Given the description of an element on the screen output the (x, y) to click on. 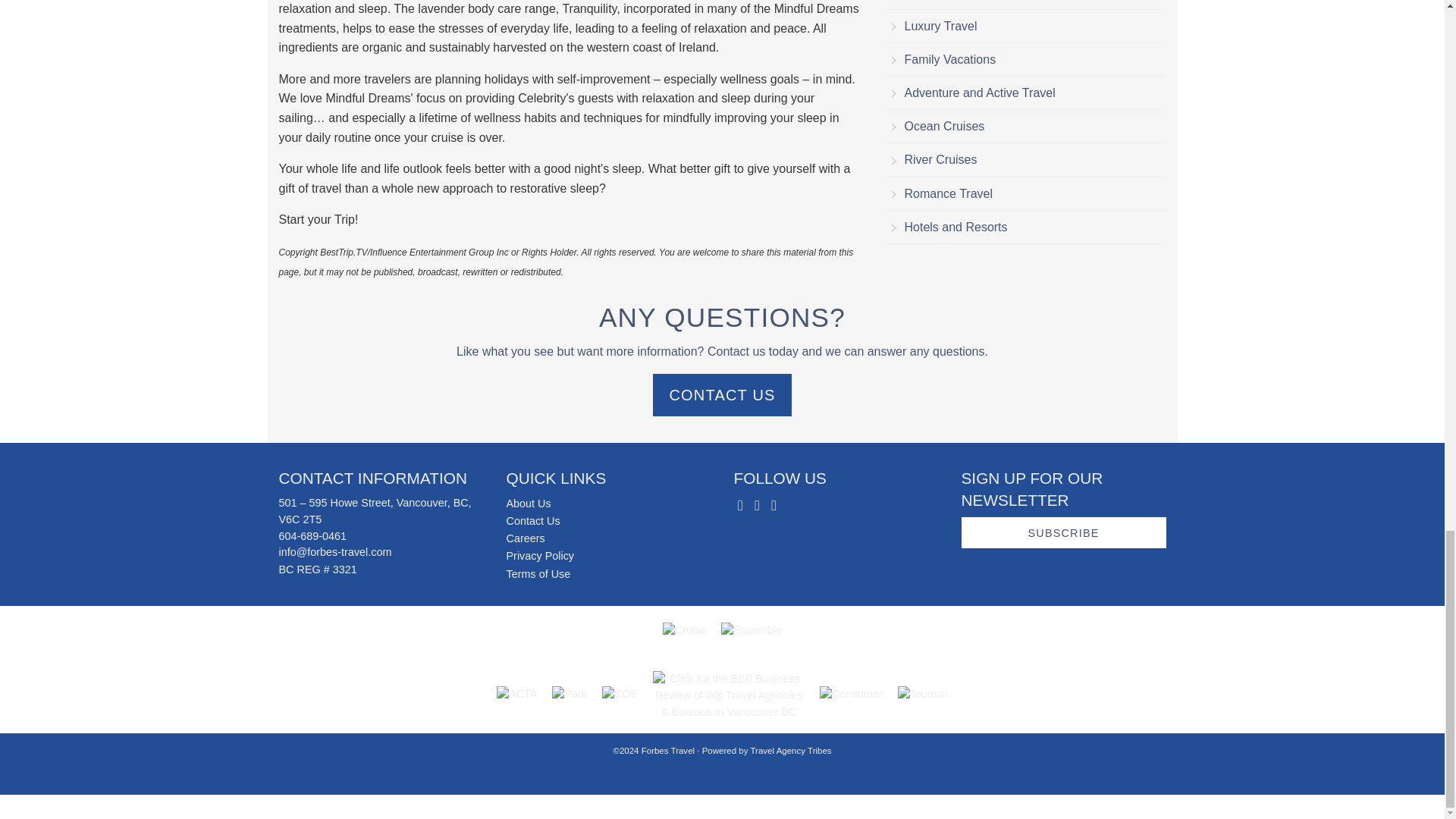
TourVan (922, 694)
Consumer (850, 694)
ACTA (516, 694)
Park (568, 694)
Circle of Excellence (619, 694)
Ensemble (750, 630)
